Given the description of an element on the screen output the (x, y) to click on. 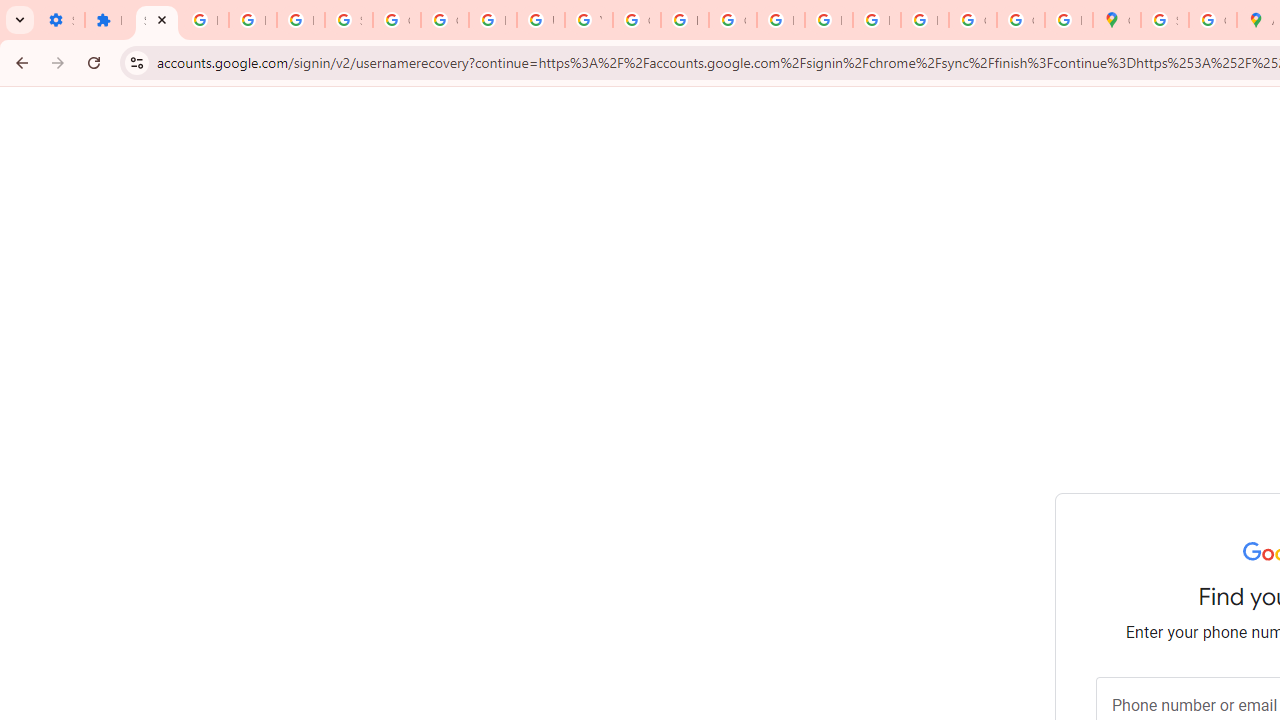
YouTube (588, 20)
Sign in - Google Accounts (156, 20)
